Given the description of an element on the screen output the (x, y) to click on. 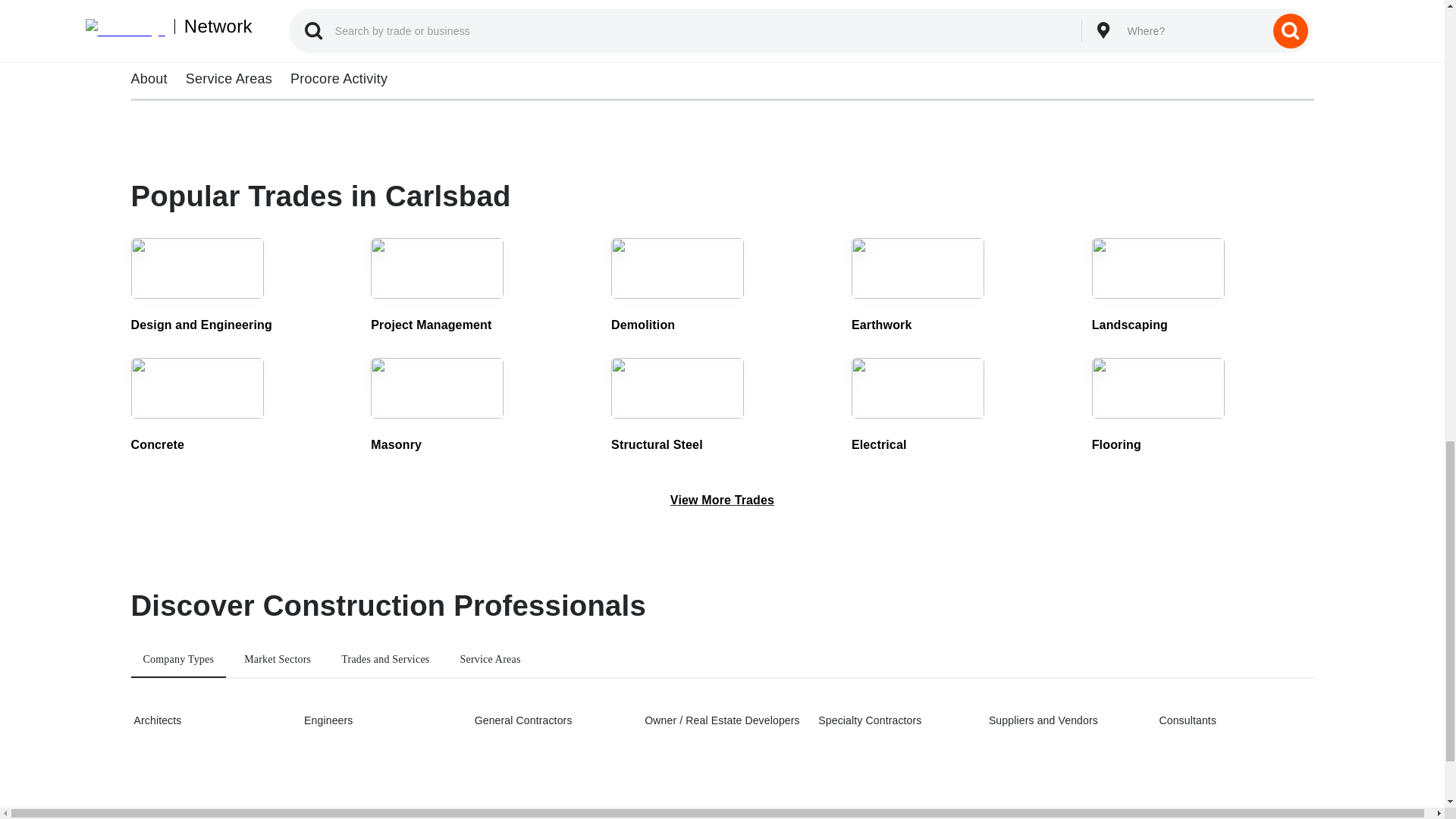
Suppliers and Vendors (1064, 720)
PC Inc (271, 50)
Masonry (481, 408)
View More Trades (722, 500)
Architects (209, 720)
Service Areas (489, 659)
Trades and Services (385, 659)
Peterson Power Systems, Inc. (871, 50)
Electrical (962, 408)
